Given the description of an element on the screen output the (x, y) to click on. 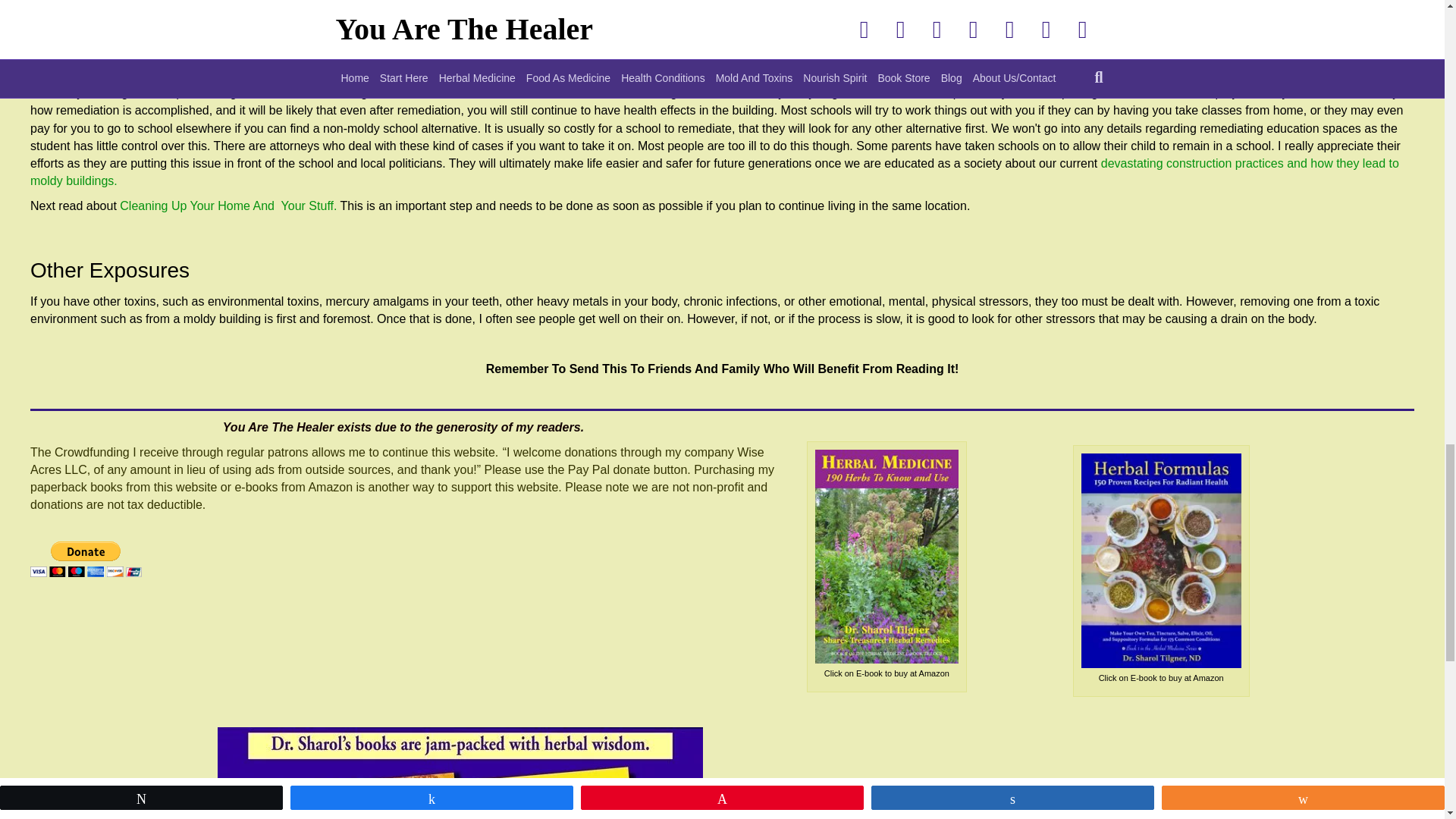
PayPal - The safer, easier way to pay online! (85, 559)
Dr. Sharol's Books (459, 773)
